Given the description of an element on the screen output the (x, y) to click on. 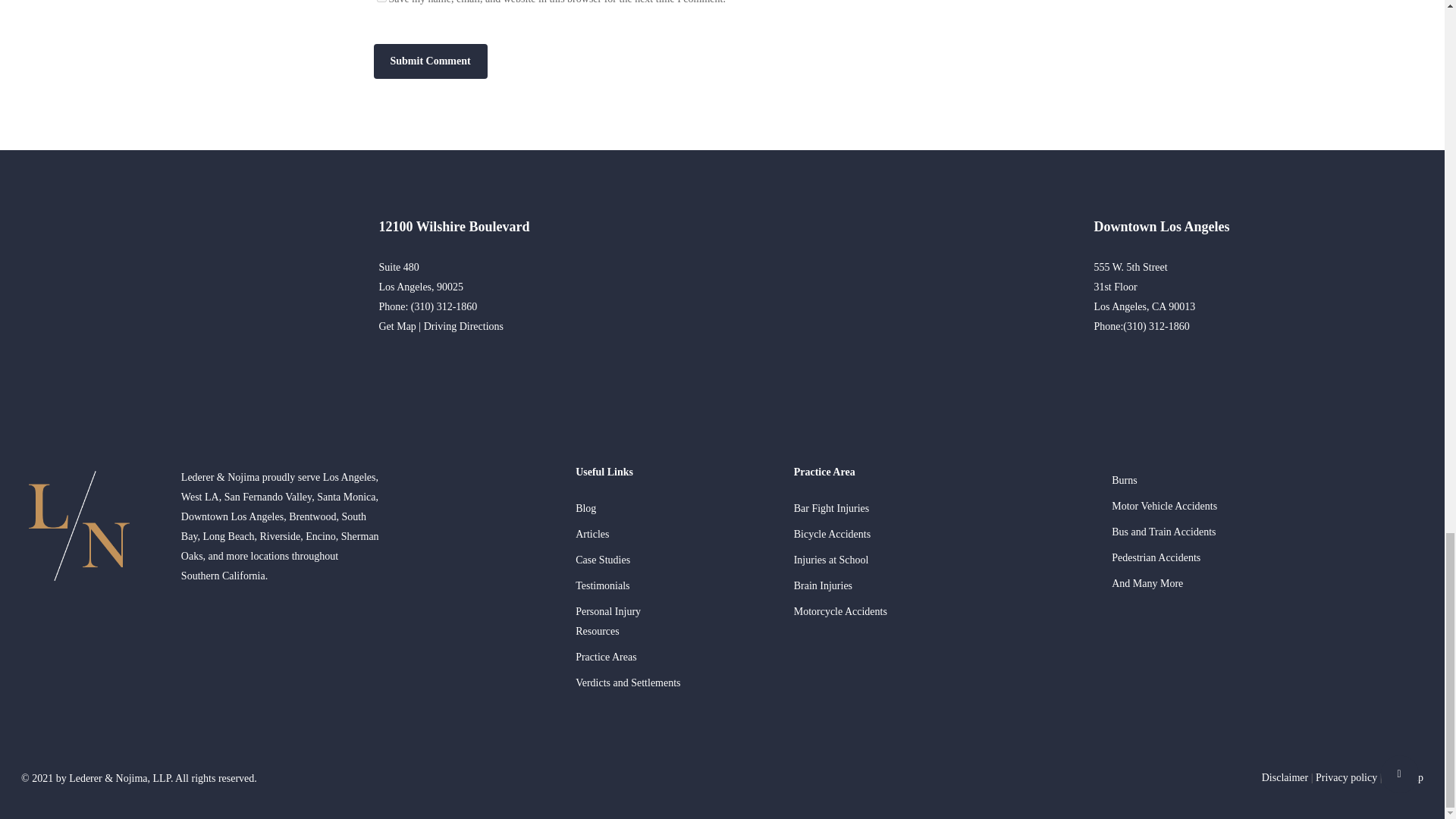
Submit Comment (429, 61)
Submit Comment (429, 61)
